Given the description of an element on the screen output the (x, y) to click on. 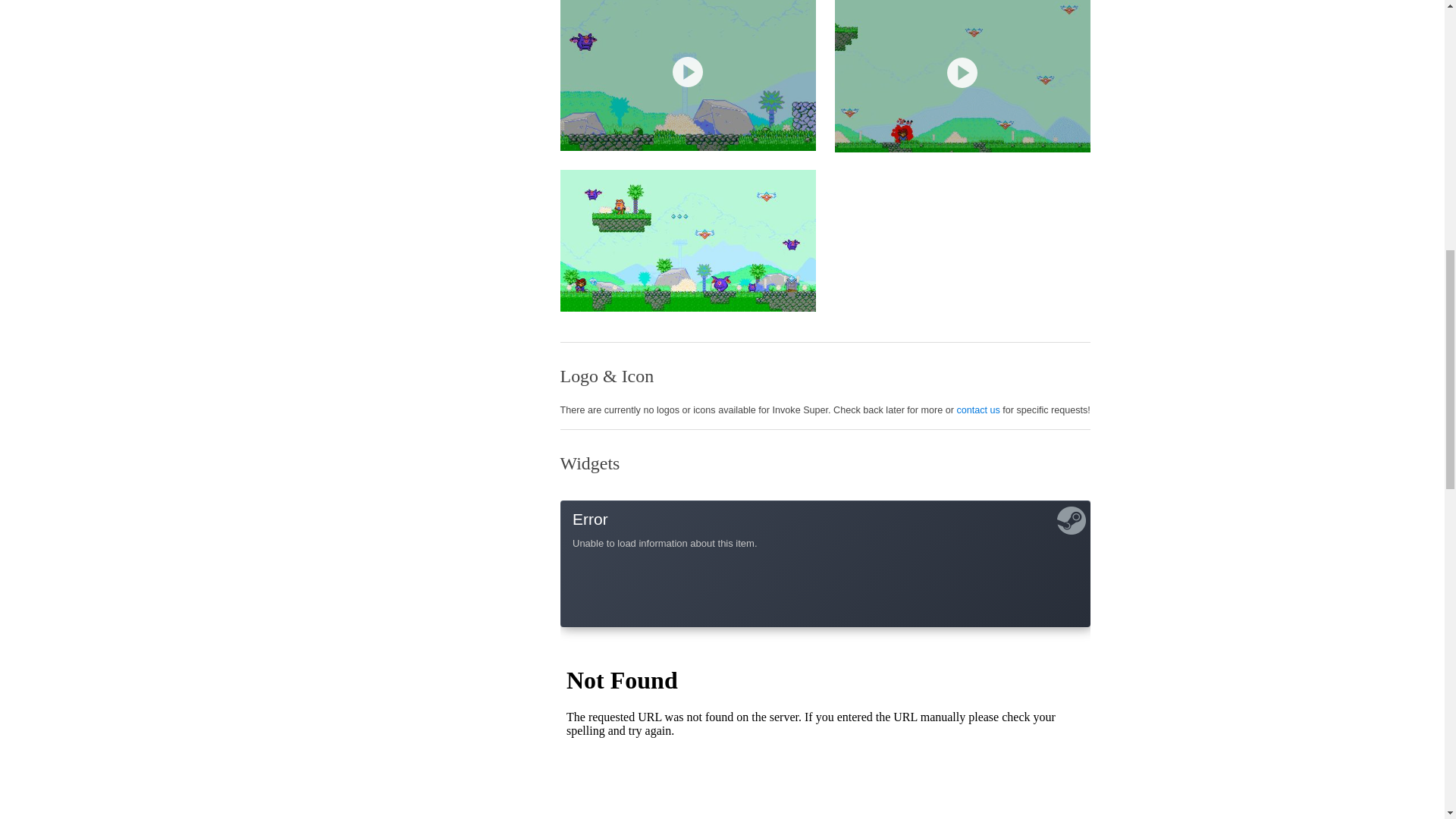
contact us (977, 409)
